Given the description of an element on the screen output the (x, y) to click on. 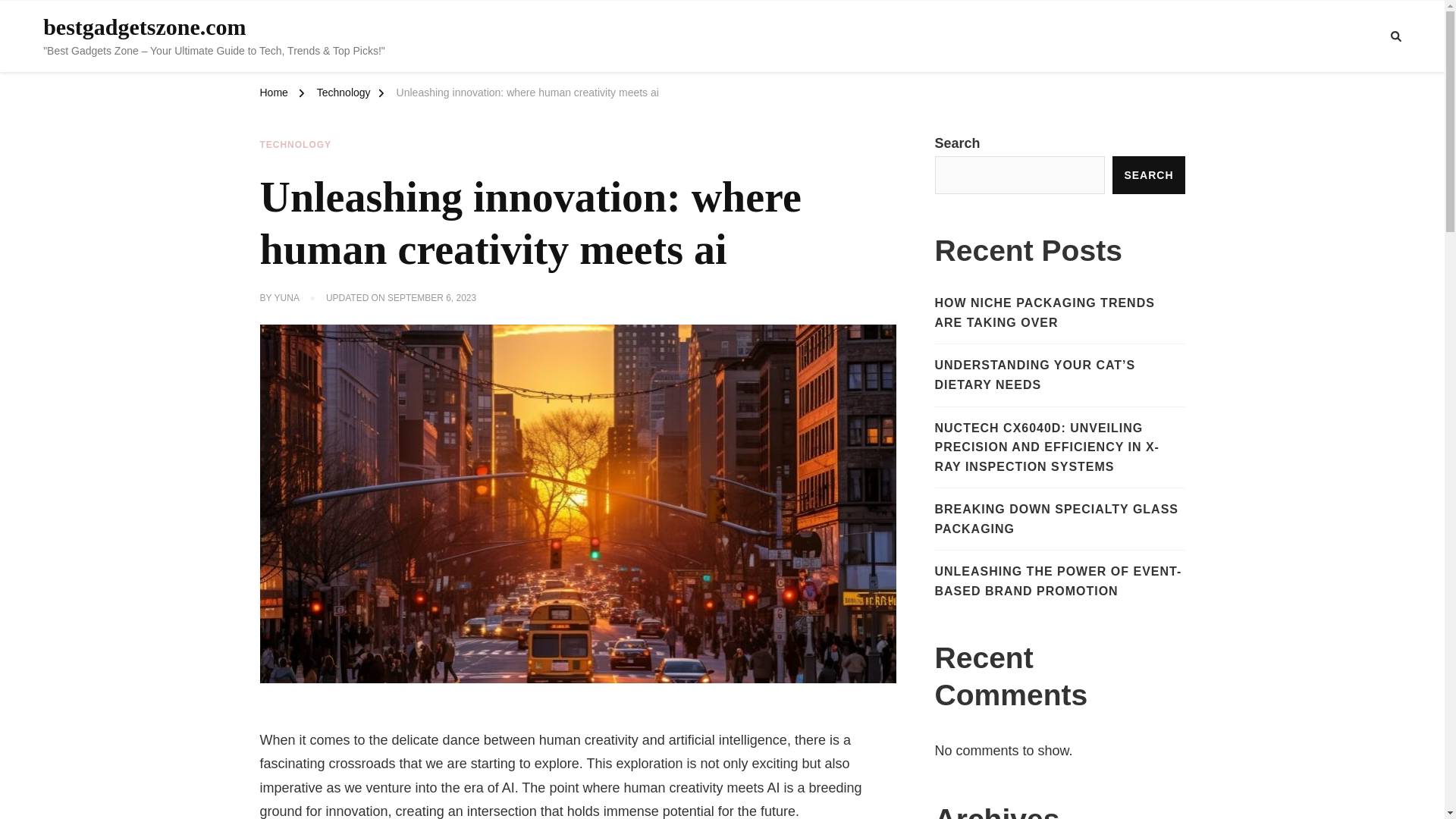
TECHNOLOGY (295, 145)
BREAKING DOWN SPECIALTY GLASS PACKAGING (1059, 518)
Technology (344, 94)
HOW NICHE PACKAGING TRENDS ARE TAKING OVER (1059, 312)
SEARCH (1148, 175)
bestgadgetszone.com (144, 26)
SEPTEMBER 6, 2023 (431, 298)
YUNA (287, 298)
UNLEASHING THE POWER OF EVENT-BASED BRAND PROMOTION (1059, 580)
Home (272, 94)
